Given the description of an element on the screen output the (x, y) to click on. 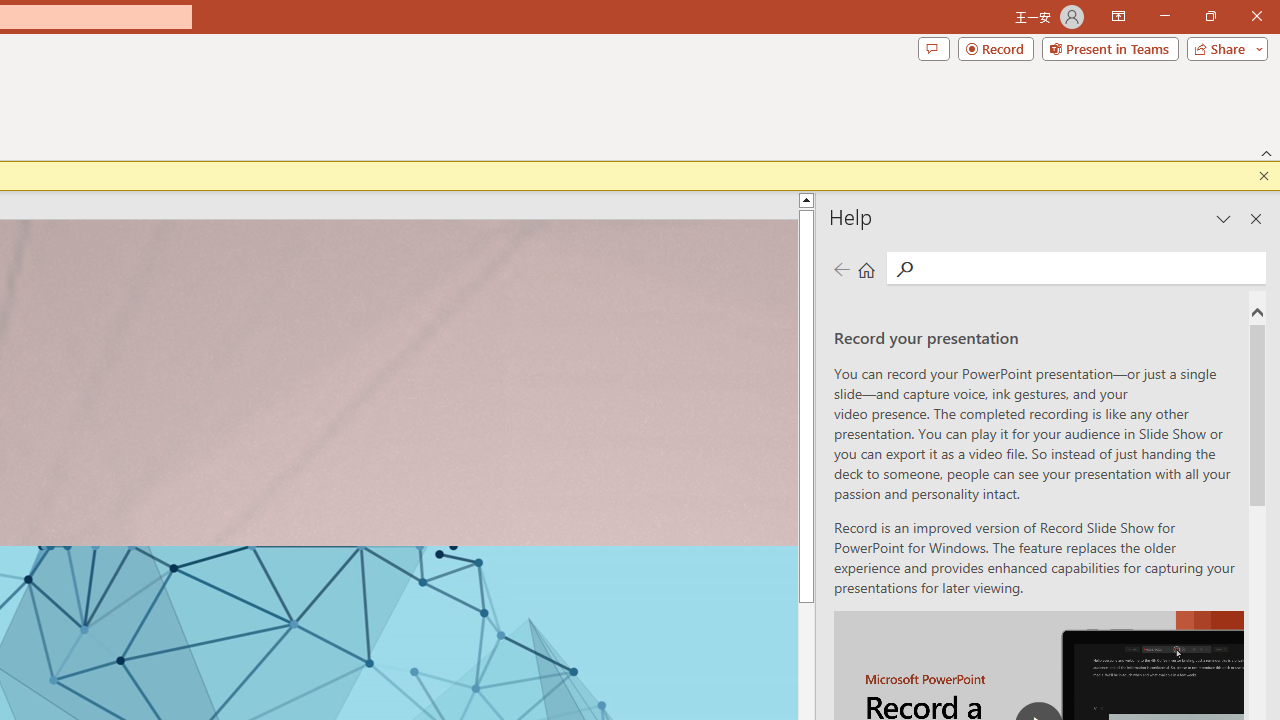
Previous page (841, 269)
Close this message (1263, 176)
